Given the description of an element on the screen output the (x, y) to click on. 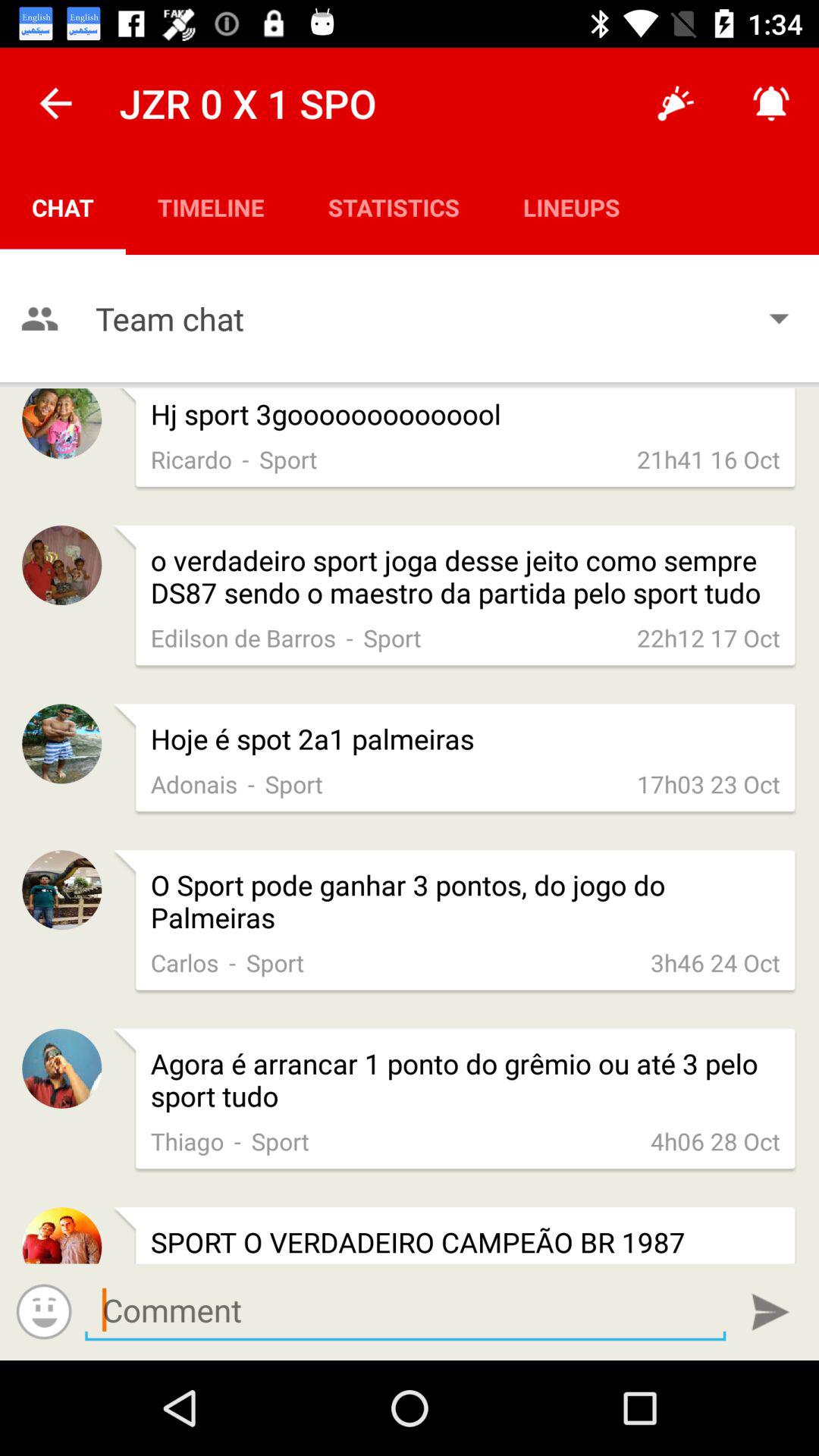
turn off icon above chat item (55, 103)
